Given the description of an element on the screen output the (x, y) to click on. 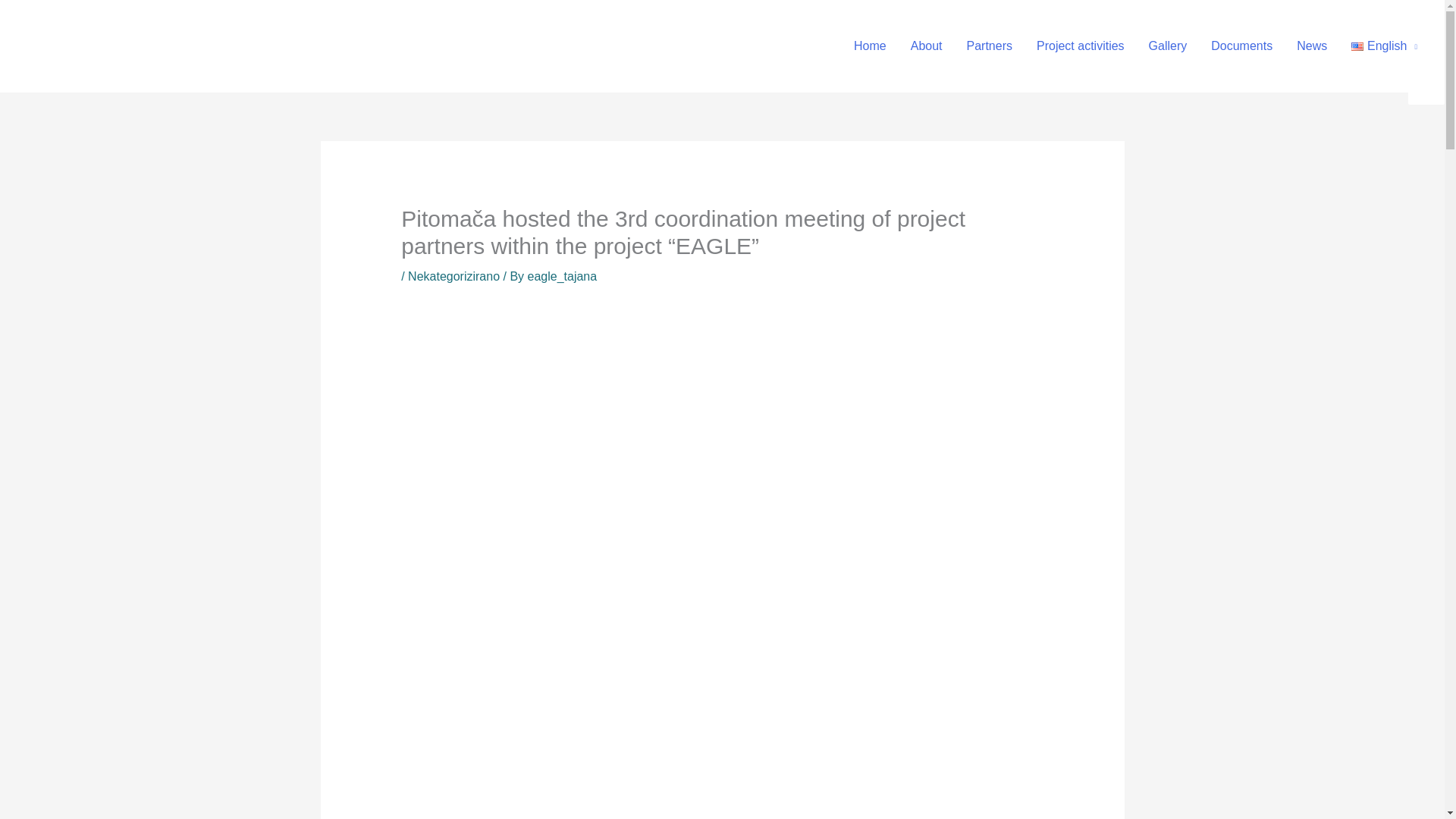
Documents (1241, 45)
English (1384, 45)
Home (869, 45)
Partners (990, 45)
Project activities (1081, 45)
Gallery (1168, 45)
Nekategorizirano (453, 276)
News (1311, 45)
About (926, 45)
